Given the description of an element on the screen output the (x, y) to click on. 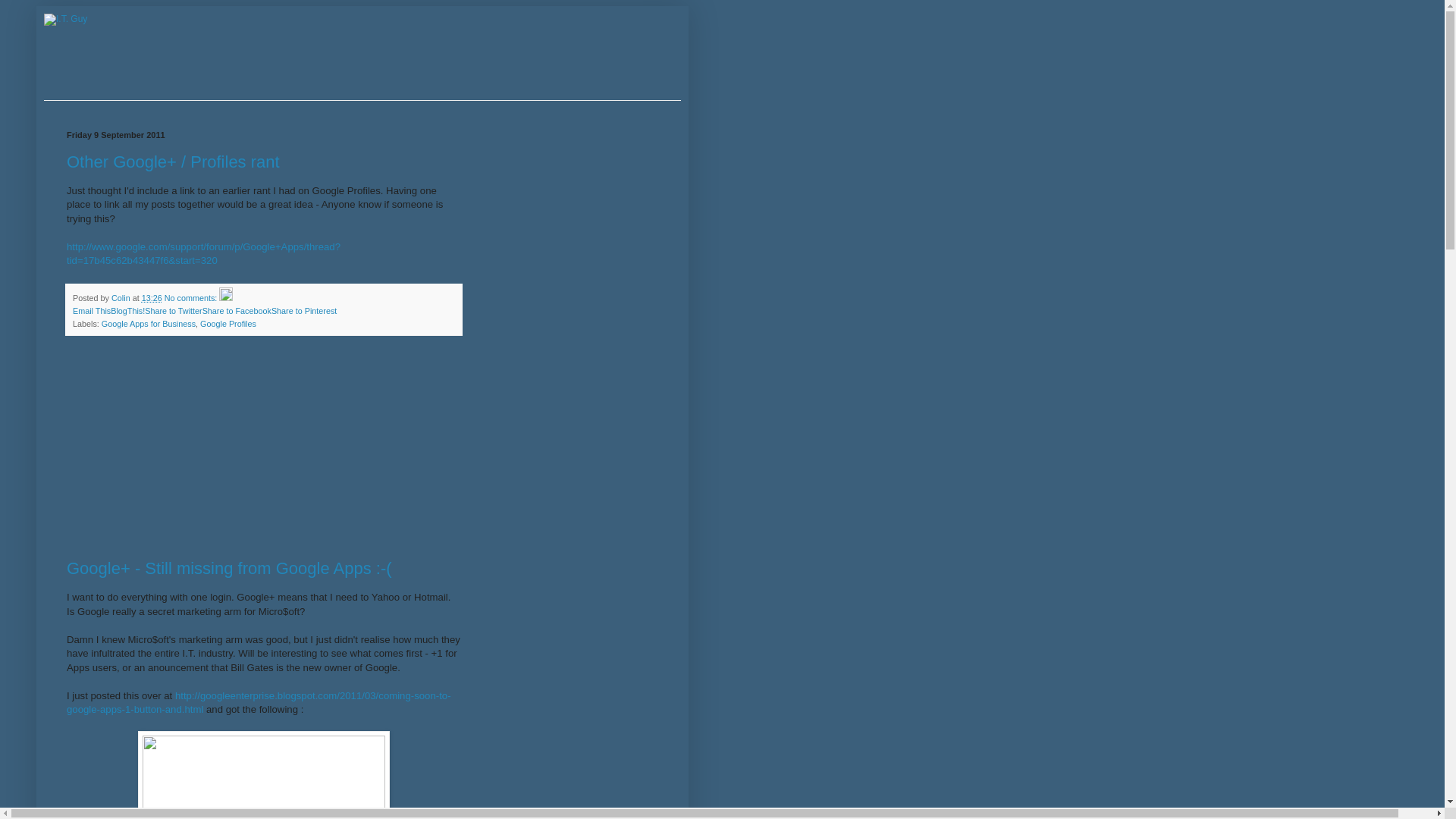
Email This Element type: text (91, 310)
Google+ - Still missing from Google Apps :-( Element type: text (229, 567)
Edit Post Element type: hover (225, 297)
Share to Pinterest Element type: text (303, 310)
Advertisement Element type: hover (180, 449)
Share to Twitter Element type: text (172, 310)
No comments: Element type: text (191, 297)
Google Profiles Element type: text (228, 323)
BlogThis! Element type: text (127, 310)
Share to Facebook Element type: text (236, 310)
Colin Element type: text (121, 297)
13:26 Element type: text (151, 297)
Google Apps for Business Element type: text (148, 323)
Other Google+ / Profiles rant Element type: text (172, 161)
